Given the description of an element on the screen output the (x, y) to click on. 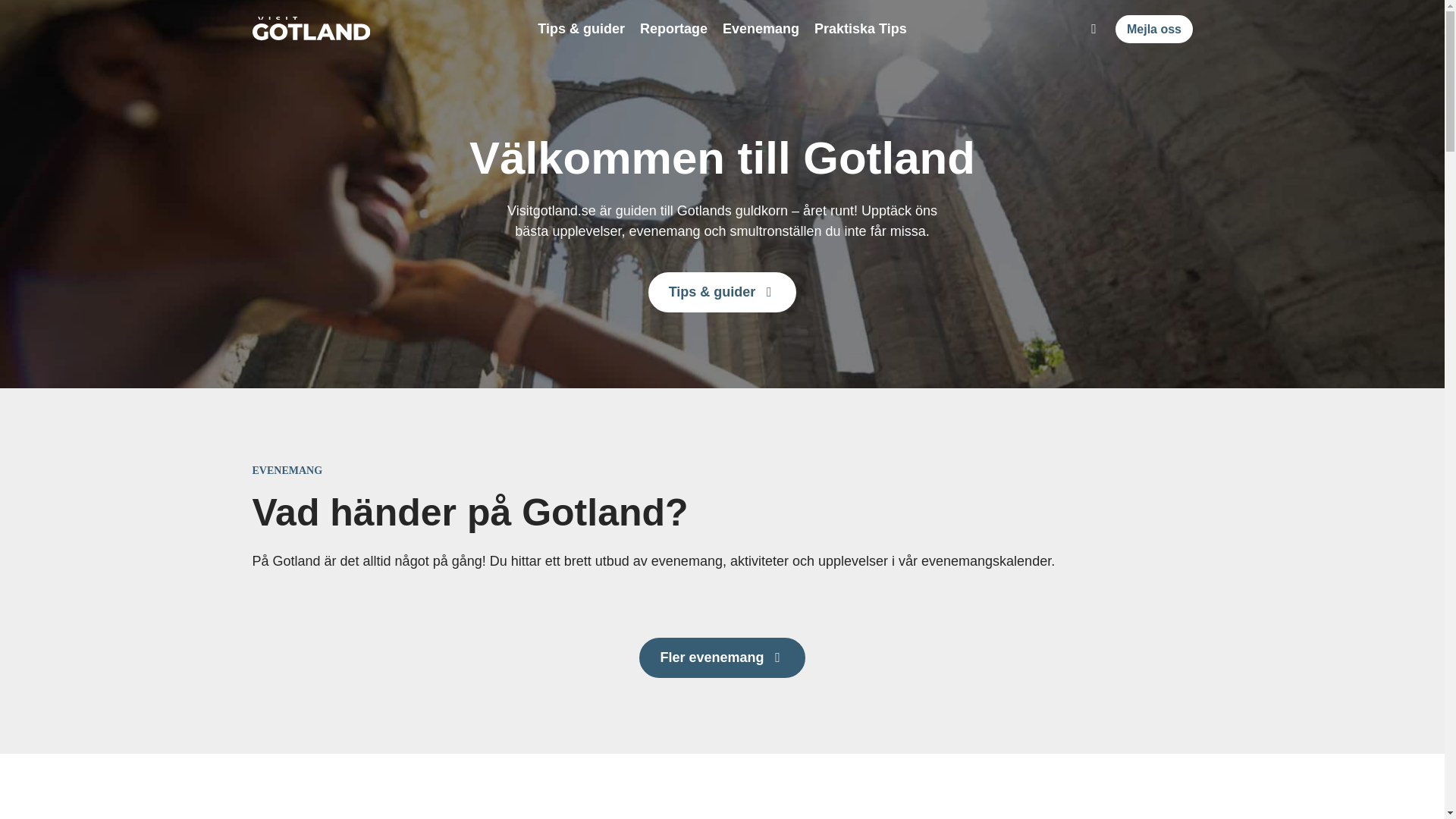
Praktiska Tips (860, 28)
Reportage (673, 28)
Mejla oss (1153, 29)
Evenemang (760, 28)
Fler evenemang (722, 658)
